Given the description of an element on the screen output the (x, y) to click on. 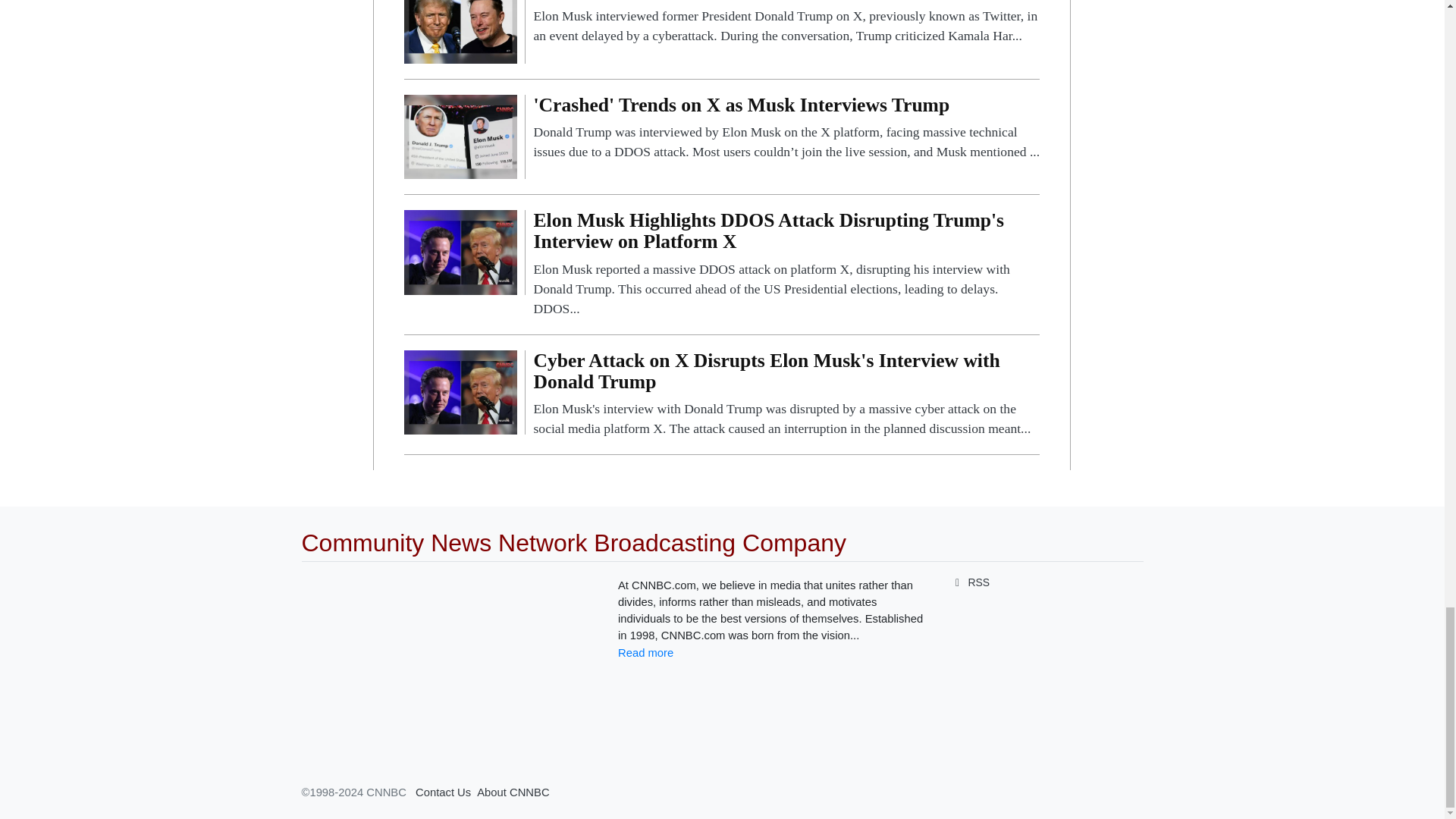
'Crashed' Trends on X as Musk Interviews Trump (460, 135)
Elon Musk Interviews Donald Trump Amid Cyberattack (460, 19)
Elon Musk Interviews Donald Trump Amid Cyberattack (785, 22)
'Crashed' Trends on X as Musk Interviews Trump (785, 128)
